Given the description of an element on the screen output the (x, y) to click on. 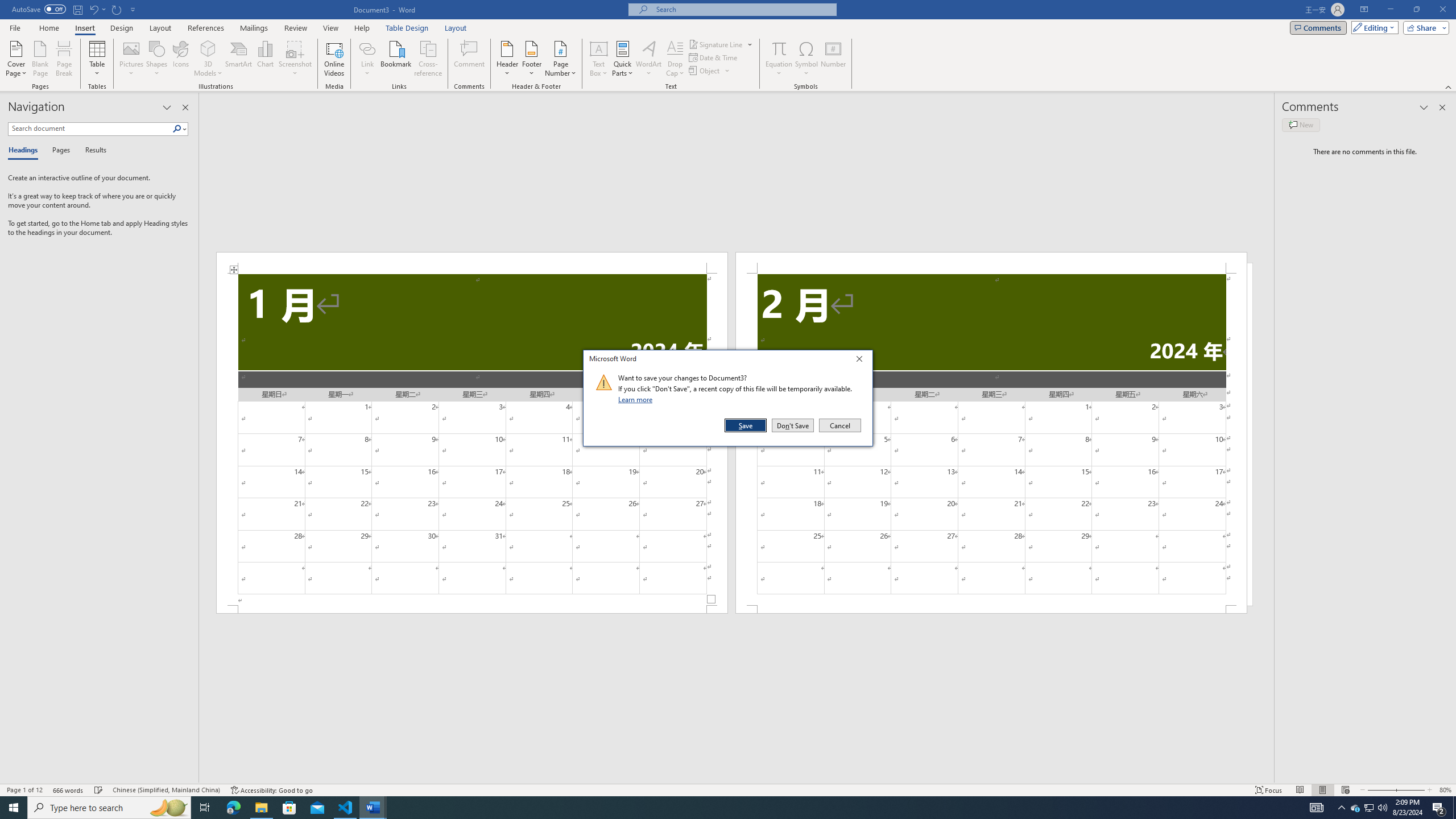
Footer -Section 1- (471, 609)
Undo Increase Indent (96, 9)
Language Chinese (Simplified, Mainland China) (165, 790)
Share (1423, 27)
Focus  (1268, 790)
Q2790: 100% (1382, 807)
Search highlights icon opens search home window (167, 807)
Close (862, 360)
Word - 2 running windows (373, 807)
New comment (1300, 124)
SmartArt... (238, 58)
Print Layout (1322, 790)
Cross-reference... (428, 58)
Object... (705, 69)
Cover Page (16, 58)
